Given the description of an element on the screen output the (x, y) to click on. 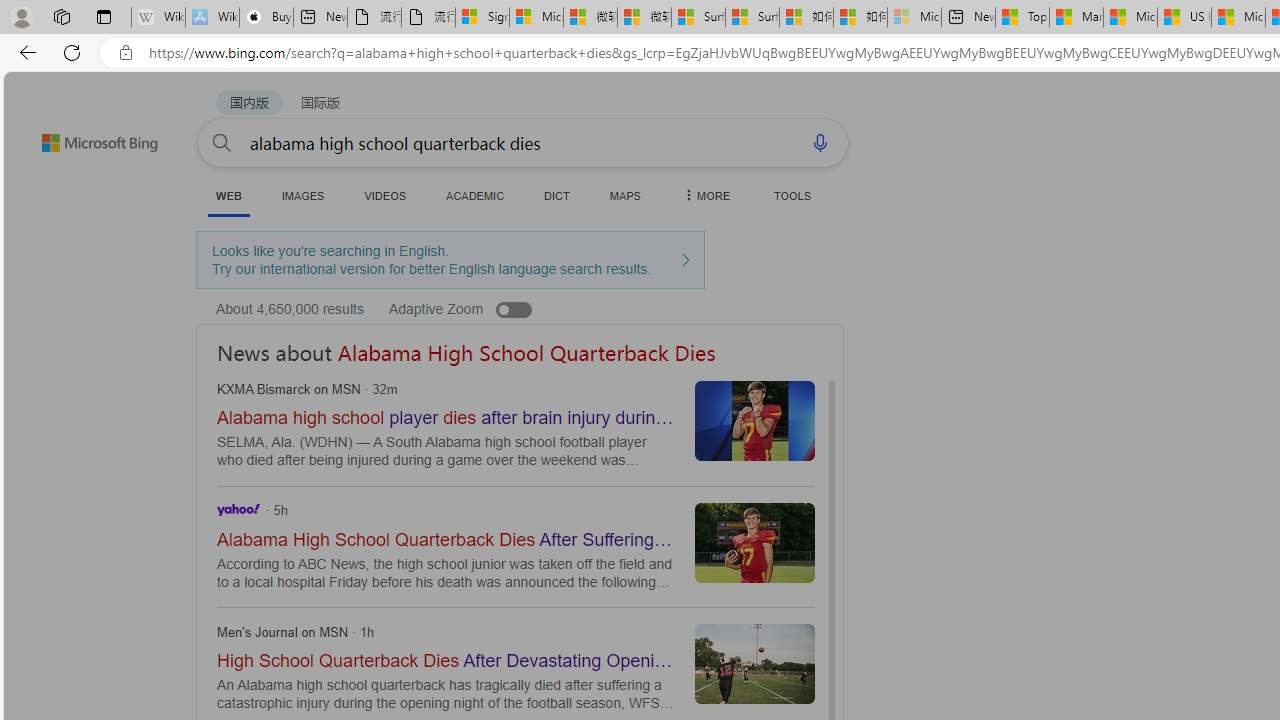
Buy iPad - Apple (266, 17)
Microsoft account | Account Checkup - Sleeping (914, 17)
US Heat Deaths Soared To Record High Last Year (1184, 17)
